Given the description of an element on the screen output the (x, y) to click on. 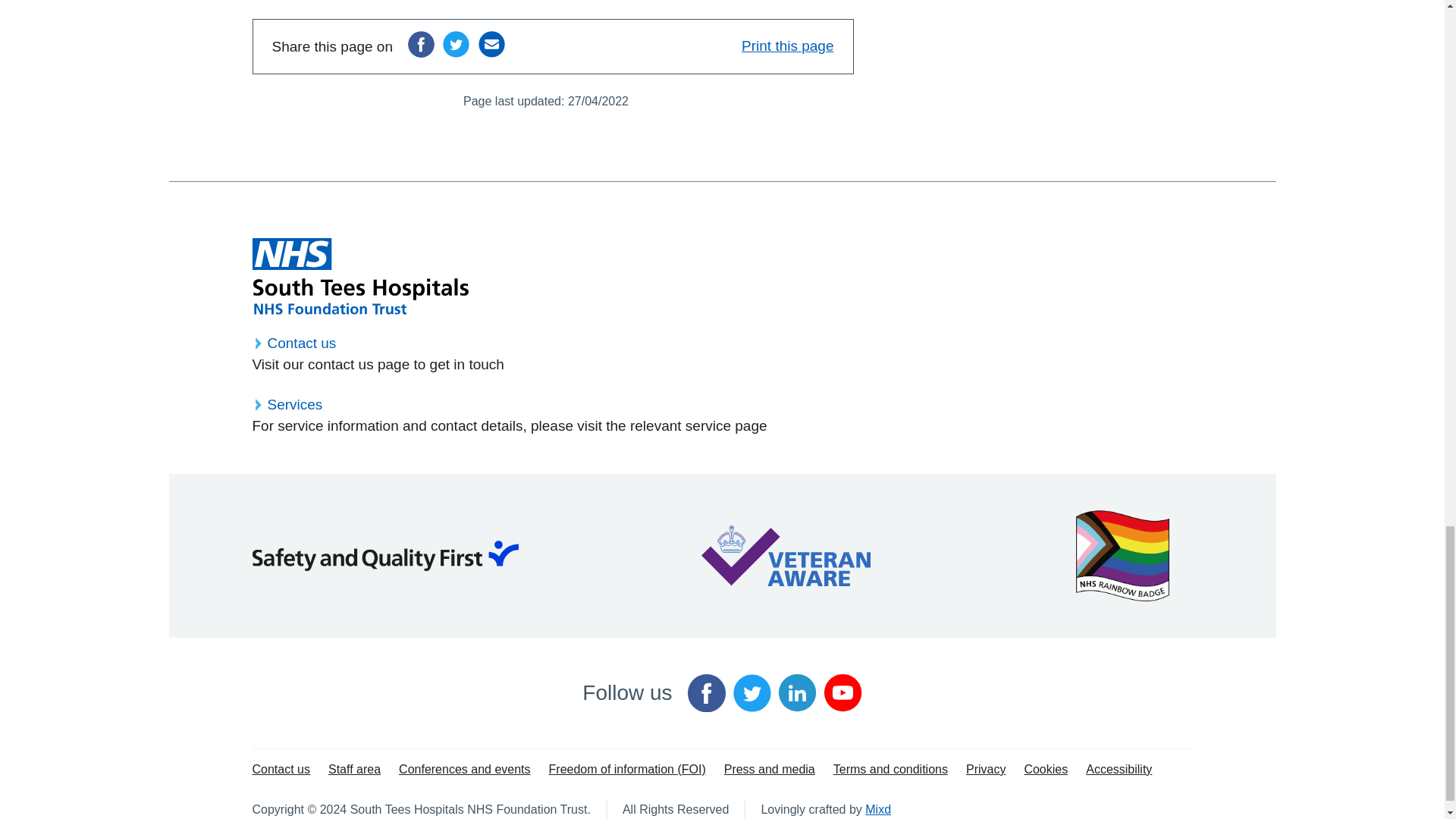
Share on Facebook (420, 44)
South Tees Hospitals NHS Foundation Trust Homepage (359, 276)
Share on Twitter (455, 44)
Share via Email (492, 44)
